Given the description of an element on the screen output the (x, y) to click on. 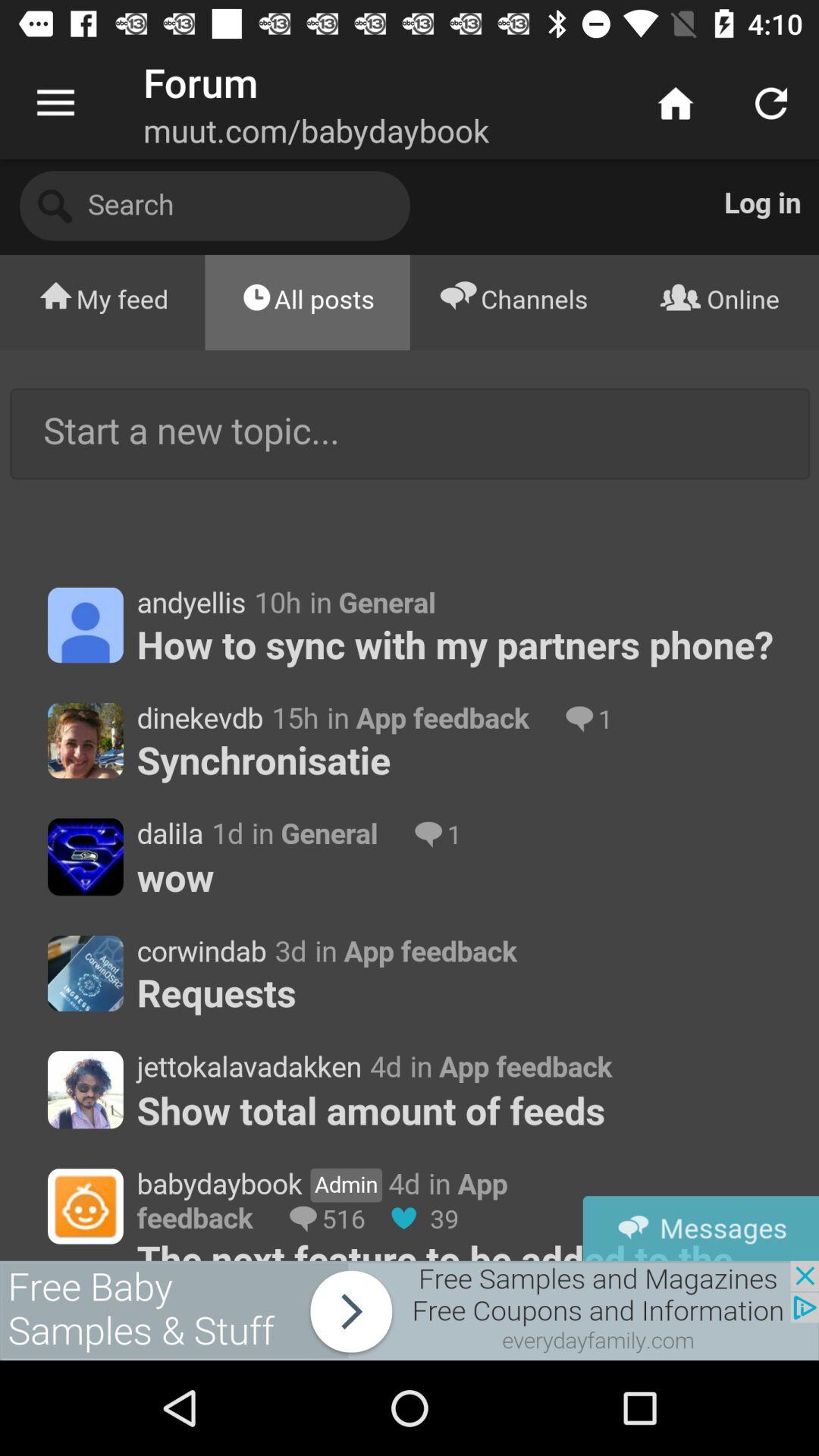
click to view advertisements options (409, 1310)
